Given the description of an element on the screen output the (x, y) to click on. 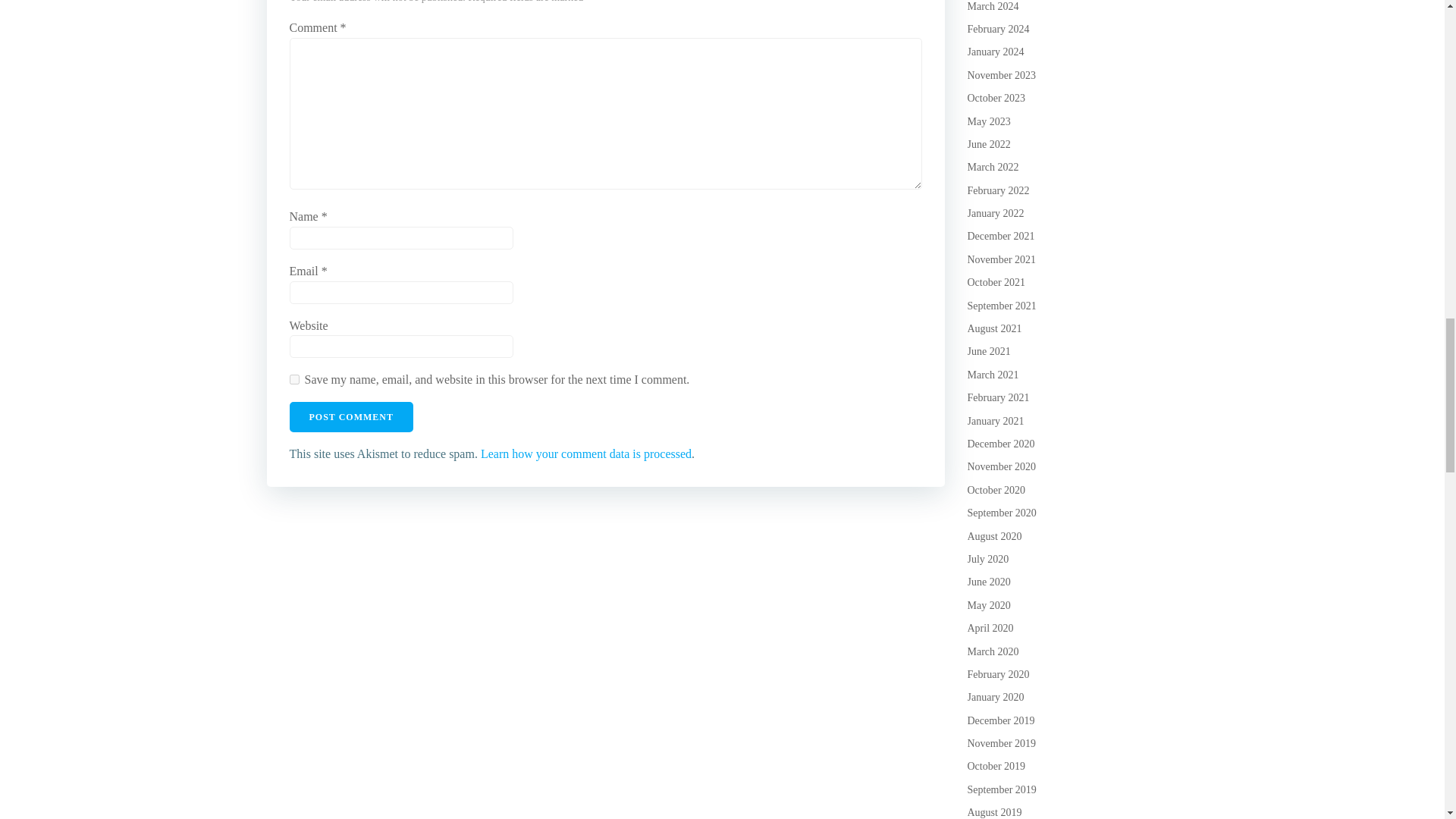
Learn how your comment data is processed (585, 453)
Post Comment (351, 417)
Post Comment (351, 417)
yes (294, 379)
